Given the description of an element on the screen output the (x, y) to click on. 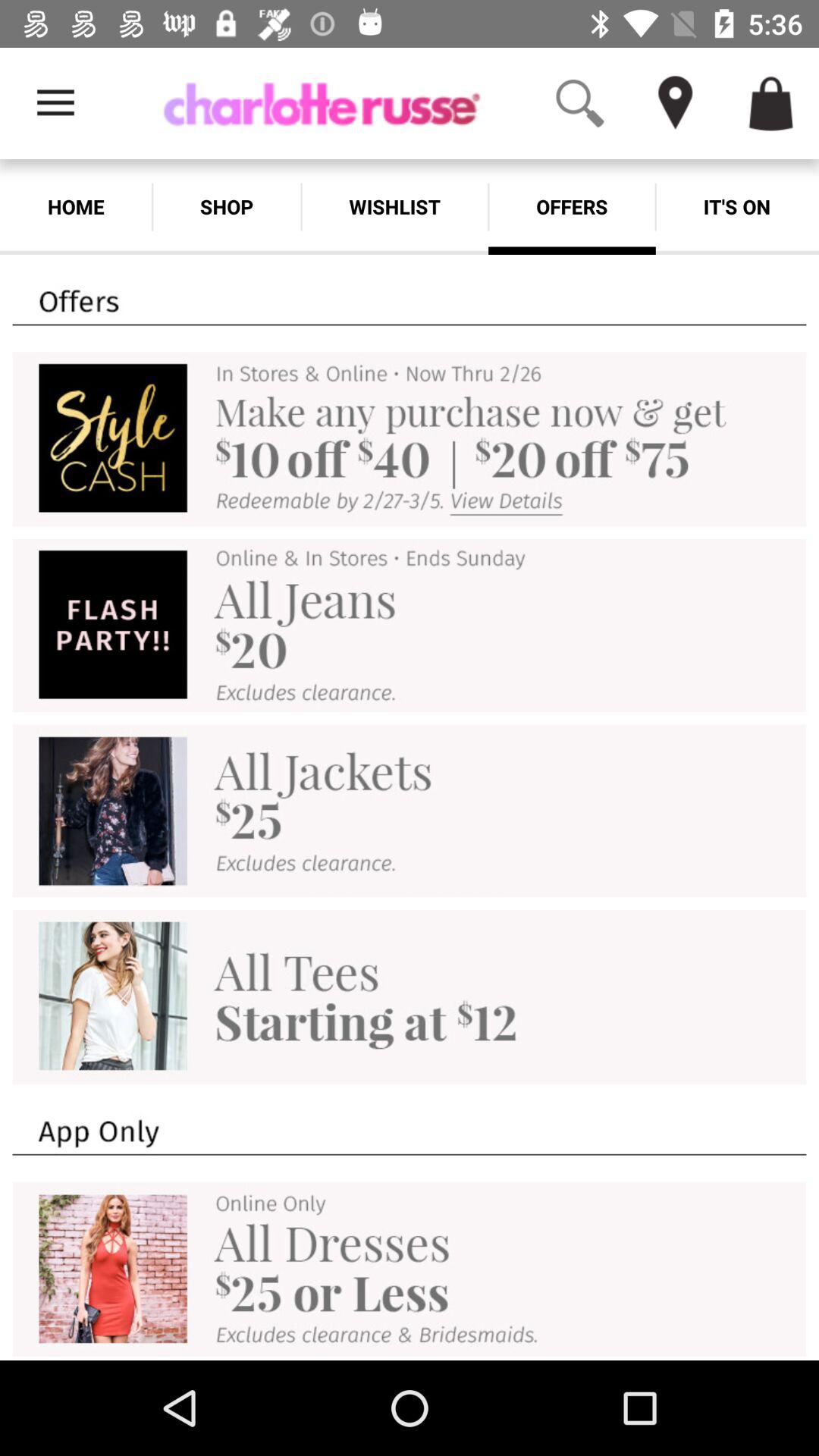
shopping bag (771, 103)
